Given the description of an element on the screen output the (x, y) to click on. 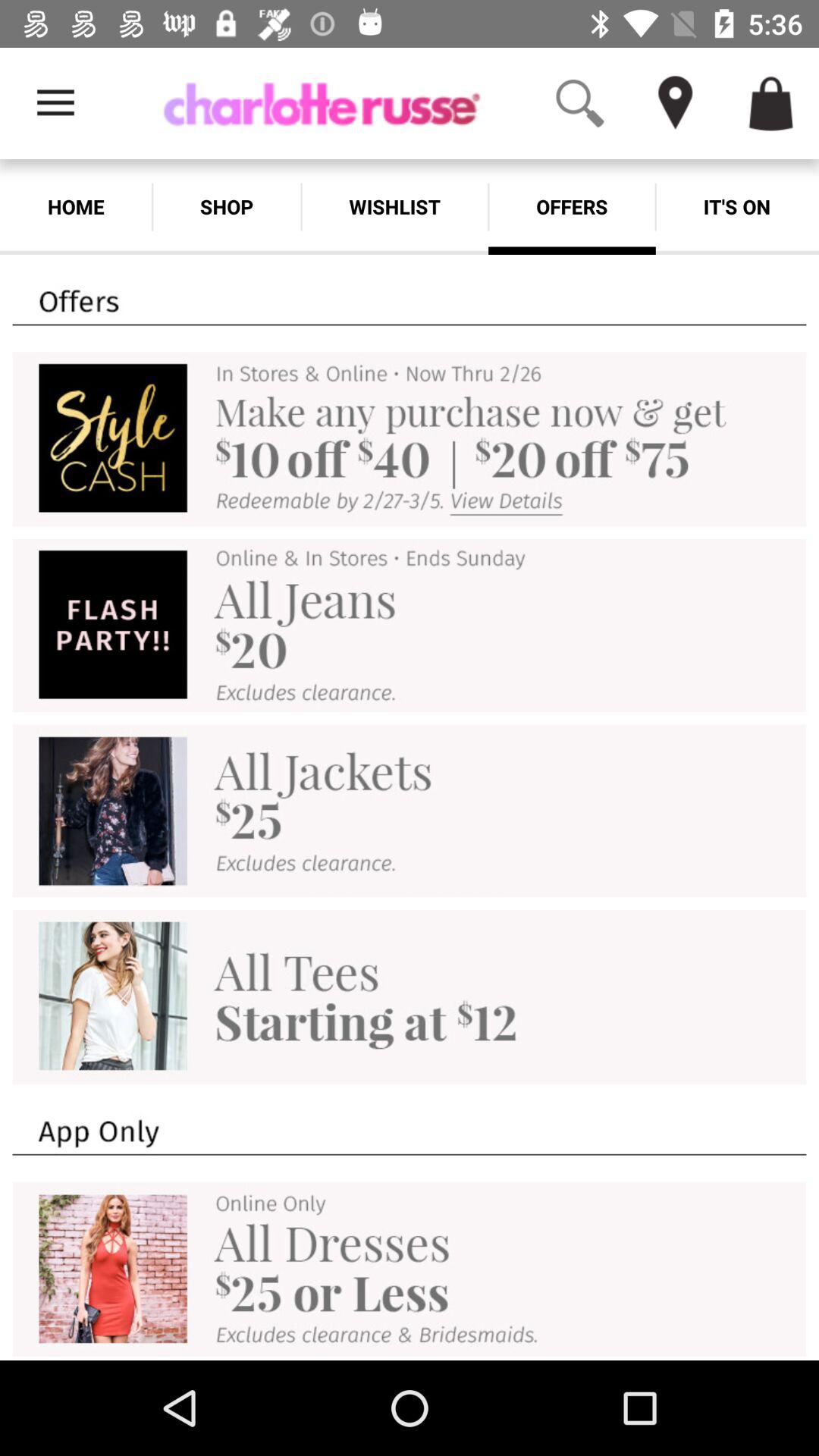
shopping bag (771, 103)
